Given the description of an element on the screen output the (x, y) to click on. 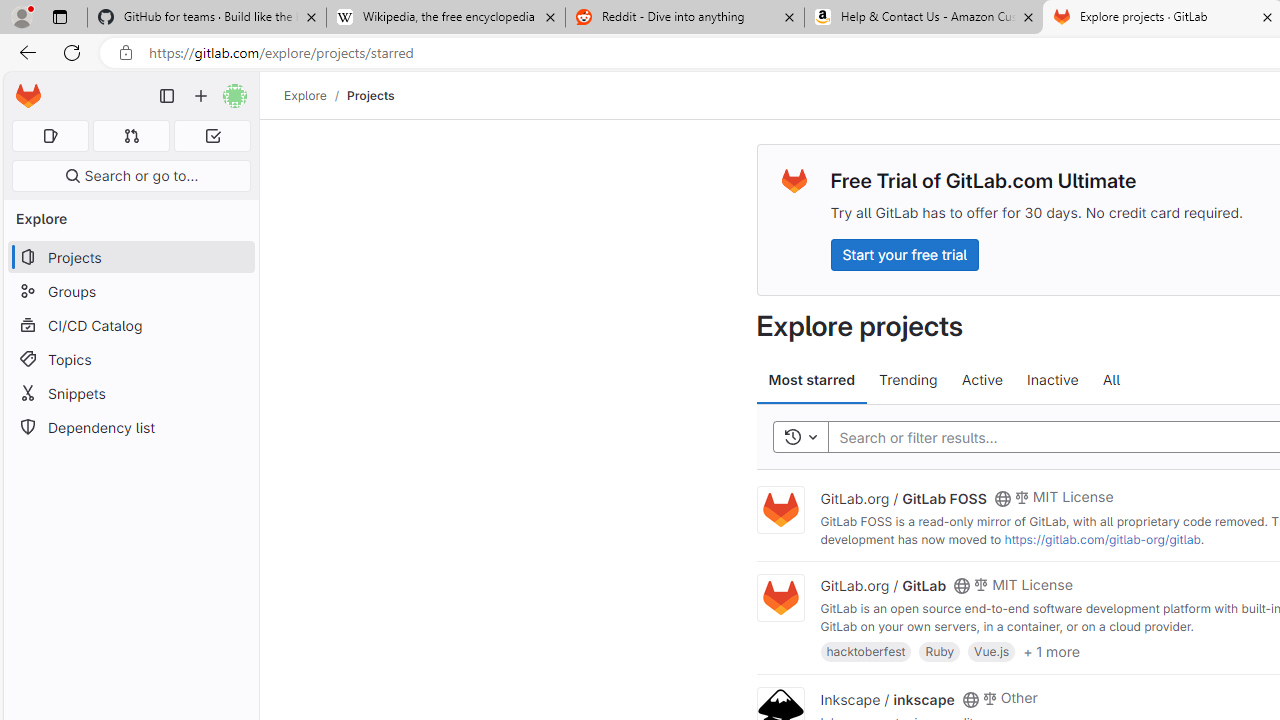
Class: s14 gl-mr-2 (989, 696)
Projects (370, 95)
Merge requests 0 (131, 136)
+ 1 more (1051, 650)
Dependency list (130, 427)
